Given the description of an element on the screen output the (x, y) to click on. 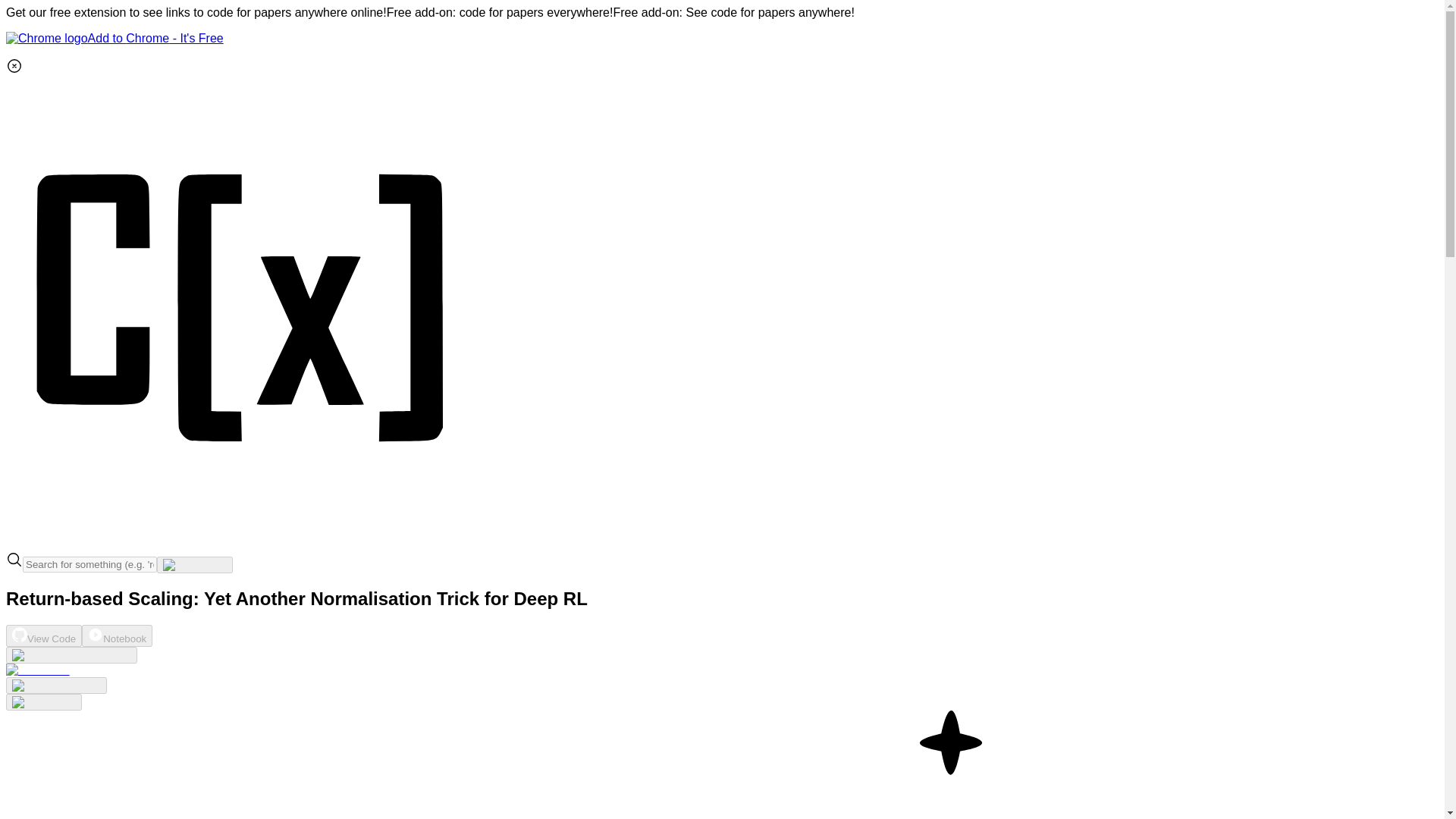
Contribute your code for this paper to the community (37, 670)
View code for similar papers (71, 654)
Get alerts when new code is available for this paper (43, 701)
Play IconNotebook (116, 635)
Github Icon (19, 634)
Bookmark this paper (55, 685)
CatalyzeX Icon (241, 543)
Github IconView Code (43, 635)
Search Icon (14, 559)
